Given the description of an element on the screen output the (x, y) to click on. 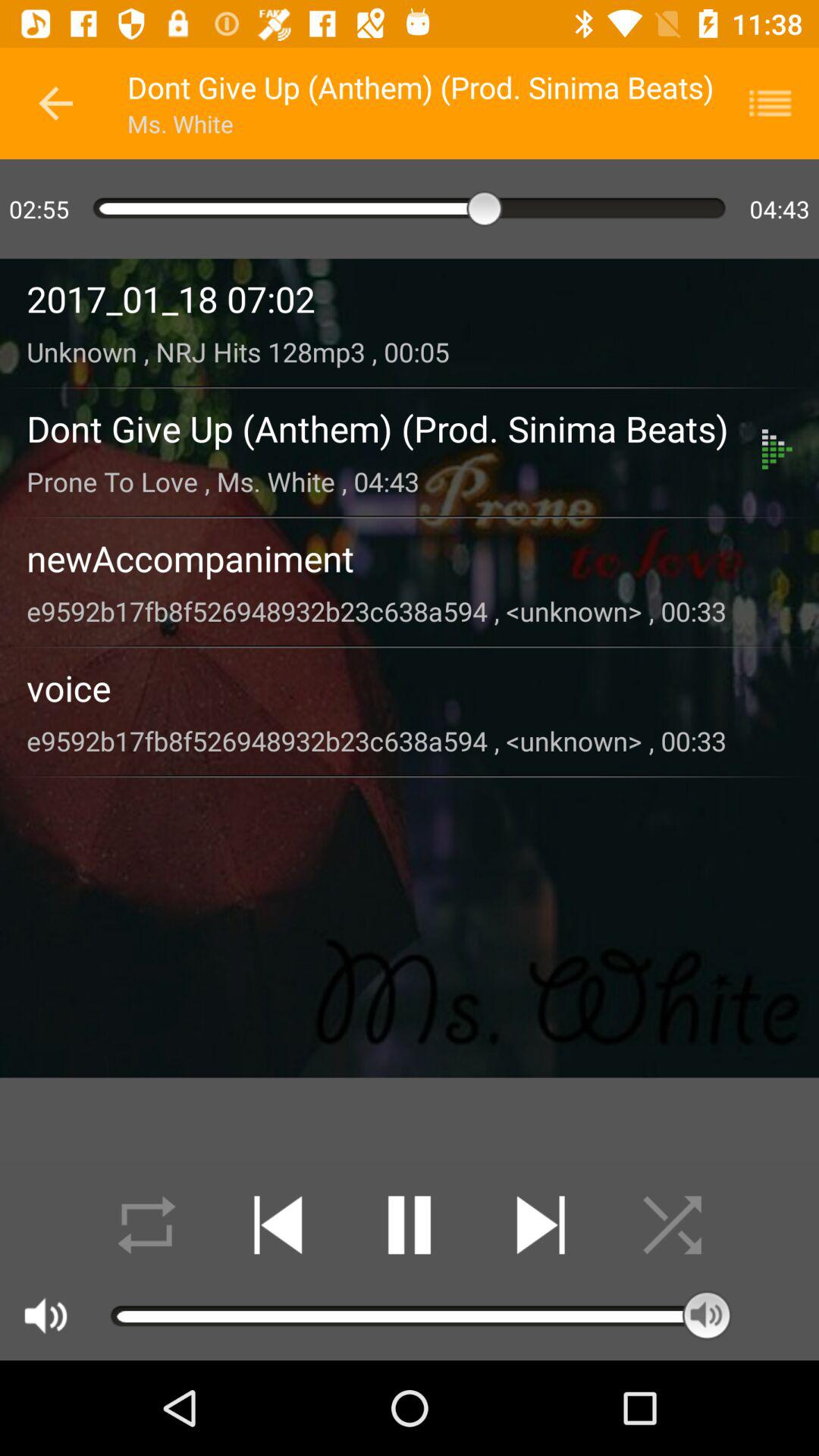
select the voice icon (409, 687)
